Given the description of an element on the screen output the (x, y) to click on. 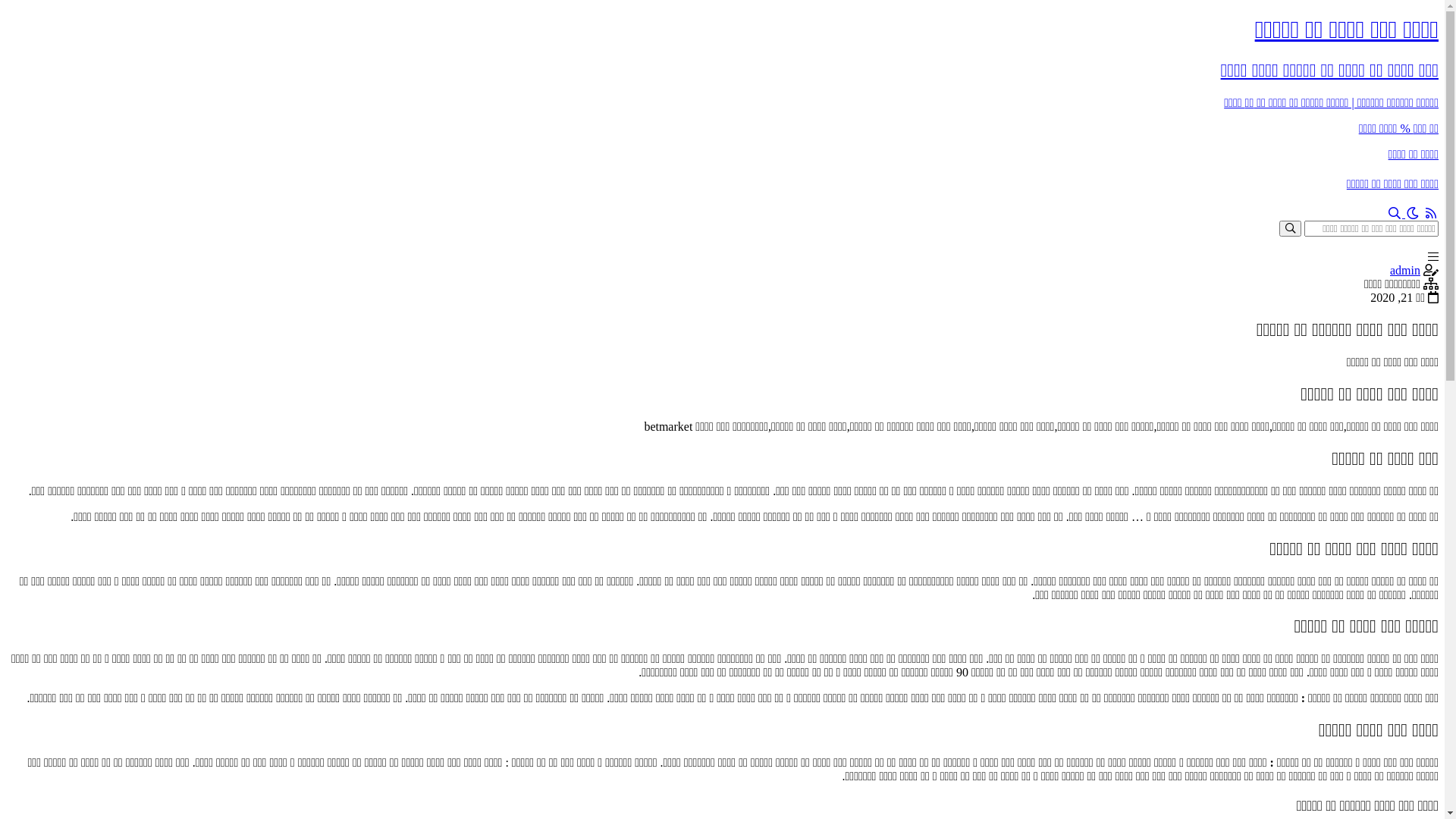
admin Element type: text (1405, 269)
